Given the description of an element on the screen output the (x, y) to click on. 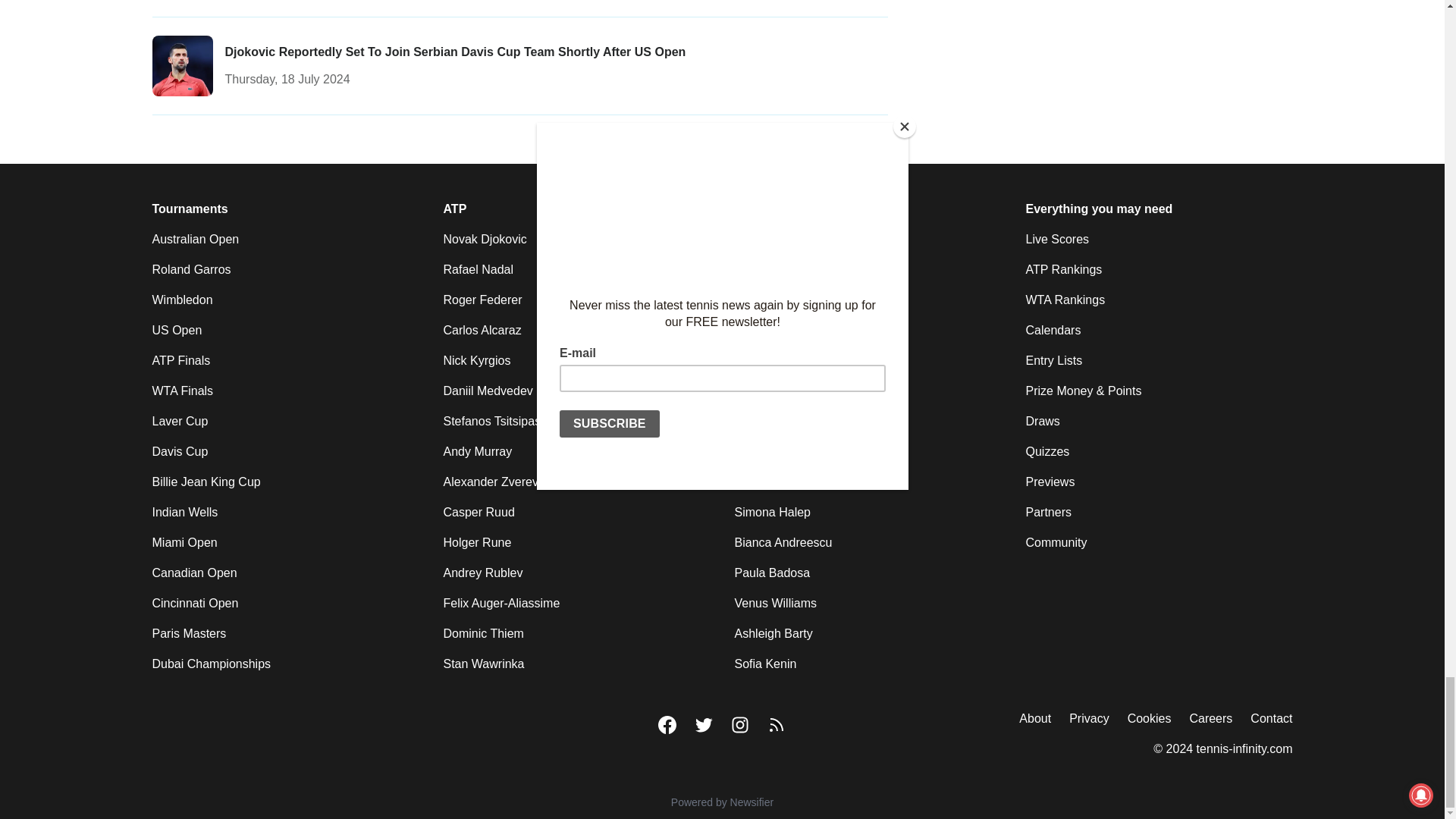
Contact (1271, 719)
ATP (453, 208)
Cookies (1149, 719)
Newsifier (722, 802)
Privacy (1088, 719)
About (1035, 719)
Careers (1210, 719)
WTA (746, 208)
